Given the description of an element on the screen output the (x, y) to click on. 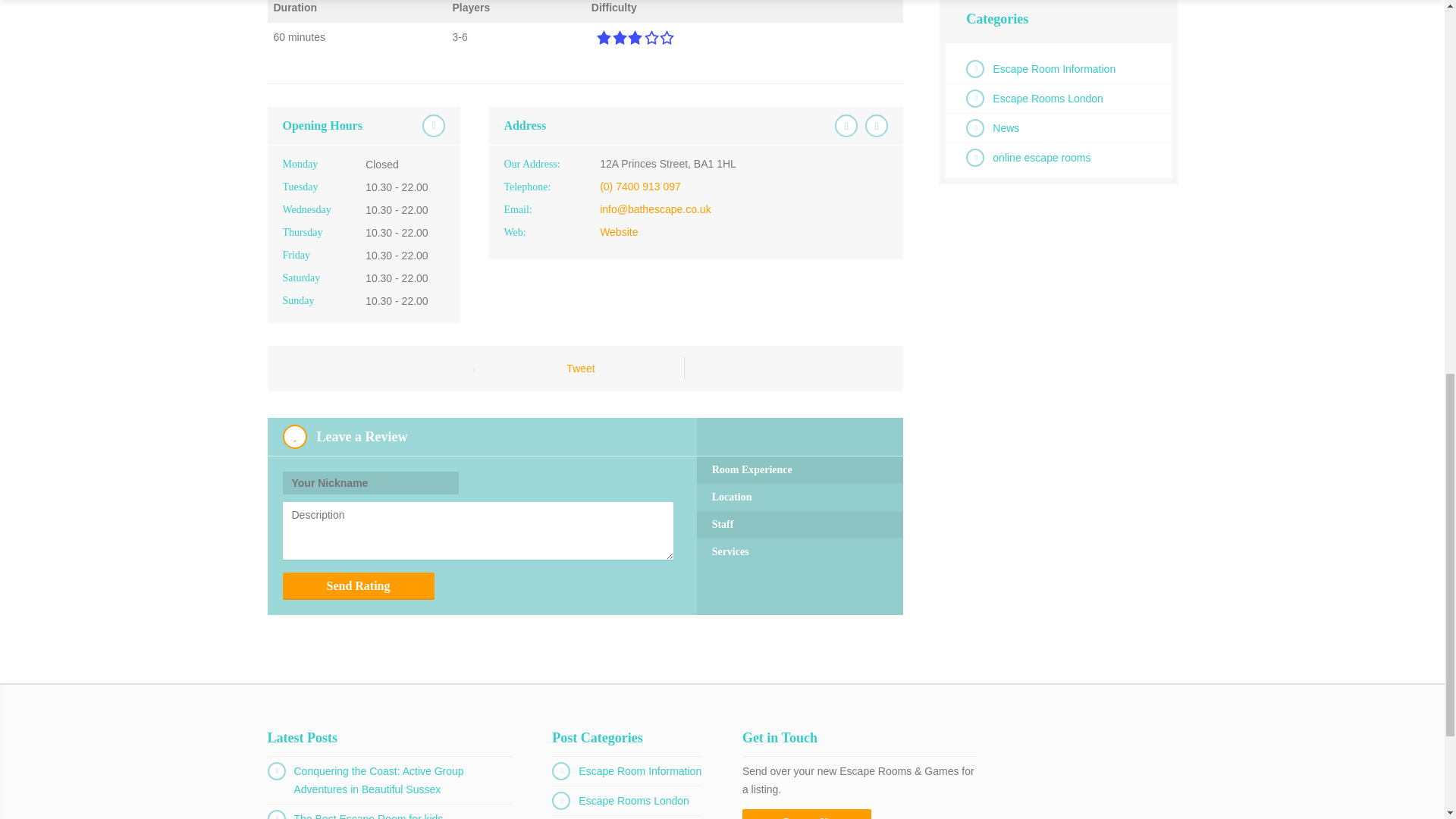
Escape Room Information (1053, 69)
Tweet (580, 368)
Escape Room Information (639, 770)
News (1005, 128)
Contact Us (806, 814)
Send Rating (357, 585)
Escape Rooms London (1047, 98)
online escape rooms (1041, 157)
Website (618, 232)
